Given the description of an element on the screen output the (x, y) to click on. 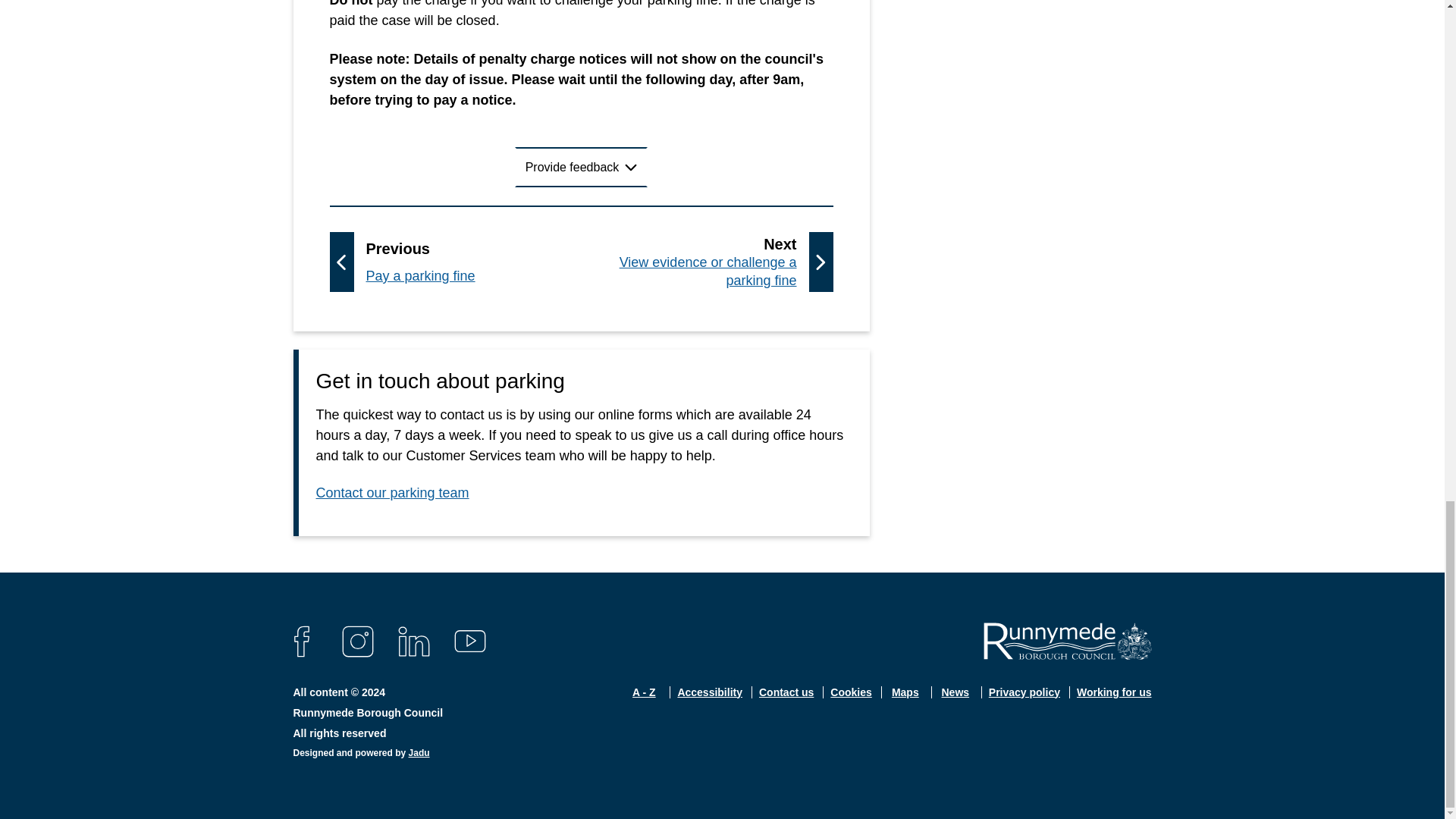
YOUTUBE (467, 641)
Accessibility (709, 702)
Instagram (355, 641)
INSTAGRAM (355, 641)
FACEBOOK (710, 261)
Contact us (438, 261)
Contact our parking team (299, 641)
Provide feedback (785, 702)
Logo: Visit the Runnymede Borough Council home page (391, 500)
Jadu (581, 167)
LINKEDIN (1066, 641)
Visit the Jadu website (419, 752)
Facebook (411, 641)
